Given the description of an element on the screen output the (x, y) to click on. 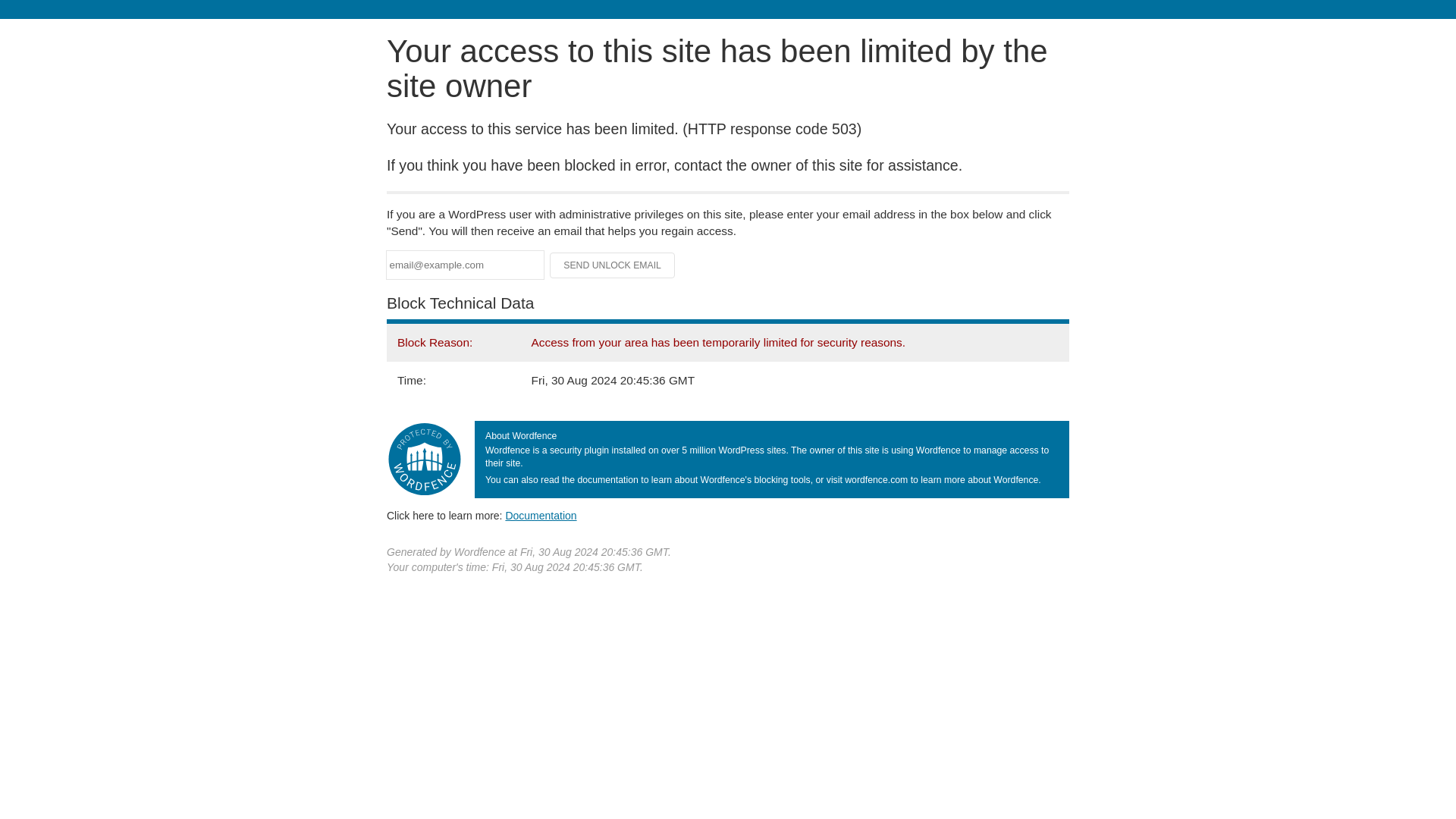
Send Unlock Email (612, 265)
Documentation (540, 515)
Send Unlock Email (612, 265)
